Given the description of an element on the screen output the (x, y) to click on. 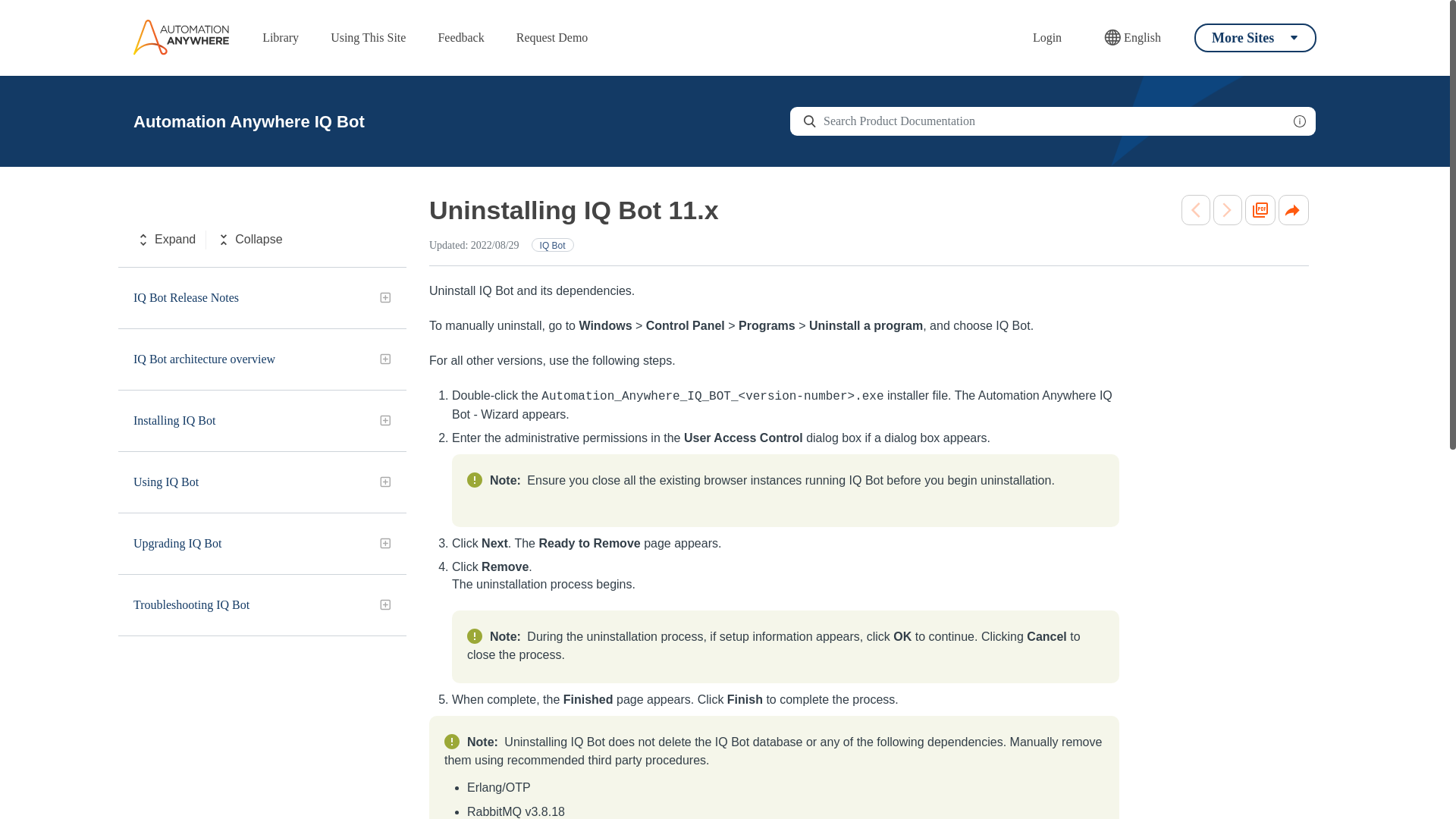
Library (280, 37)
English (1132, 37)
Login (1046, 37)
Request Demo (551, 37)
More Sites (1254, 36)
Using This Site (367, 37)
Feedback (460, 37)
